Given the description of an element on the screen output the (x, y) to click on. 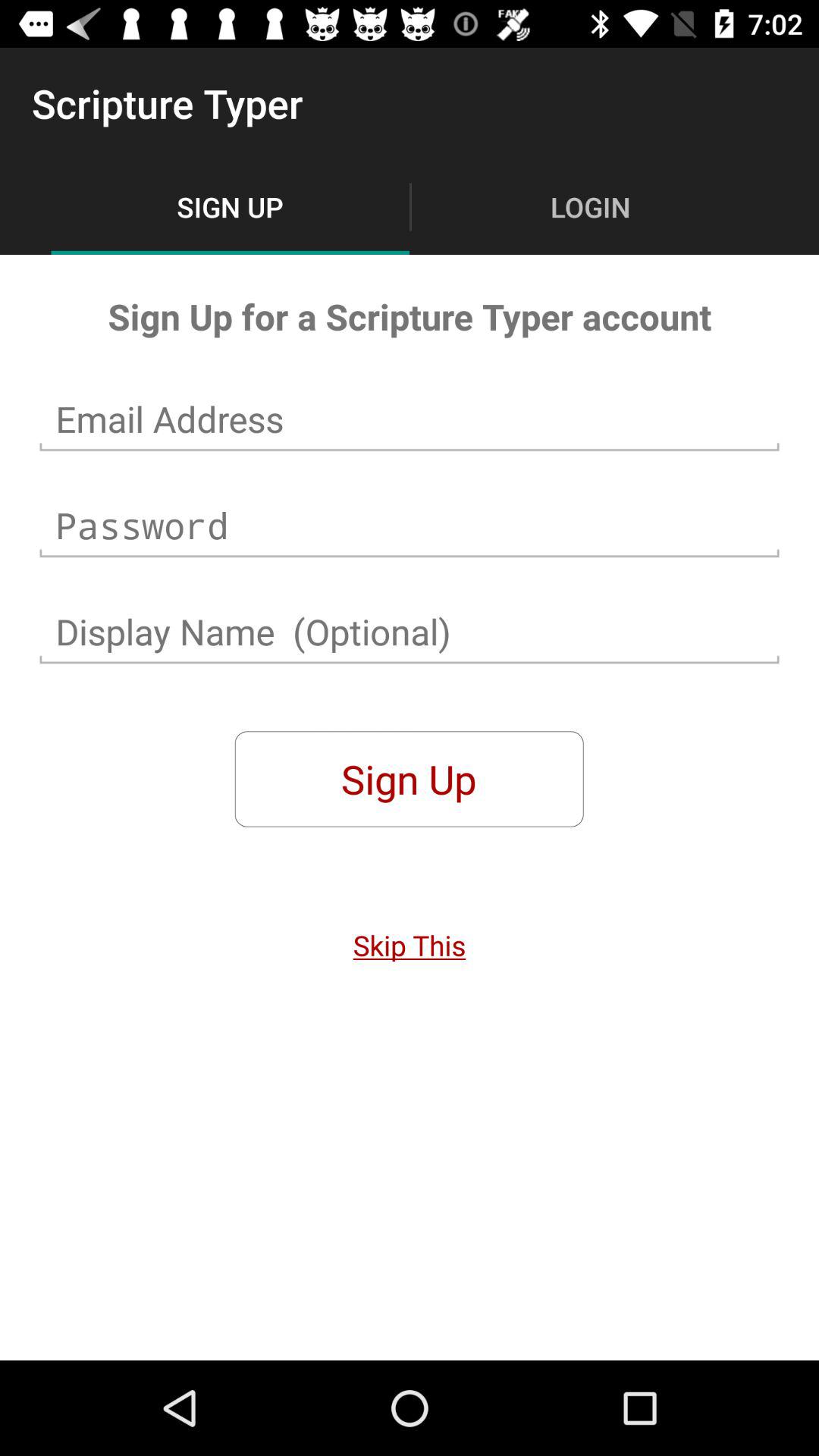
customize password (409, 525)
